Given the description of an element on the screen output the (x, y) to click on. 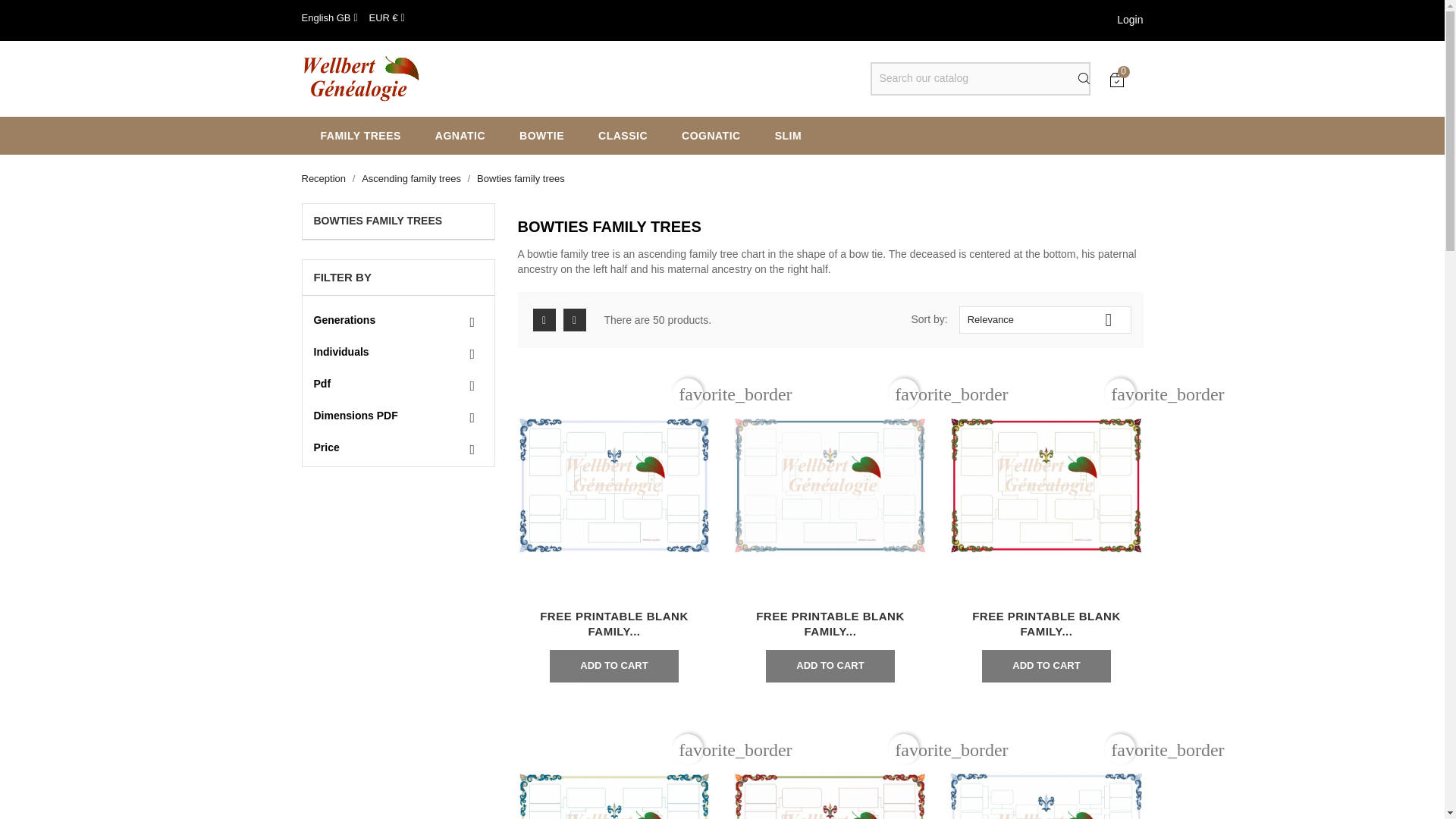
BOWTIE (539, 135)
FAMILY TREES (358, 135)
Log in to your customer account (1129, 20)
English GB (329, 17)
AGNATIC (458, 135)
Bowties family trees (520, 178)
SLIM (785, 135)
COGNATIC (708, 135)
Ascending family trees (412, 178)
Reception (325, 178)
Login (1129, 20)
CLASSIC (620, 135)
BOWTIES FAMILY TREES (397, 221)
